Given the description of an element on the screen output the (x, y) to click on. 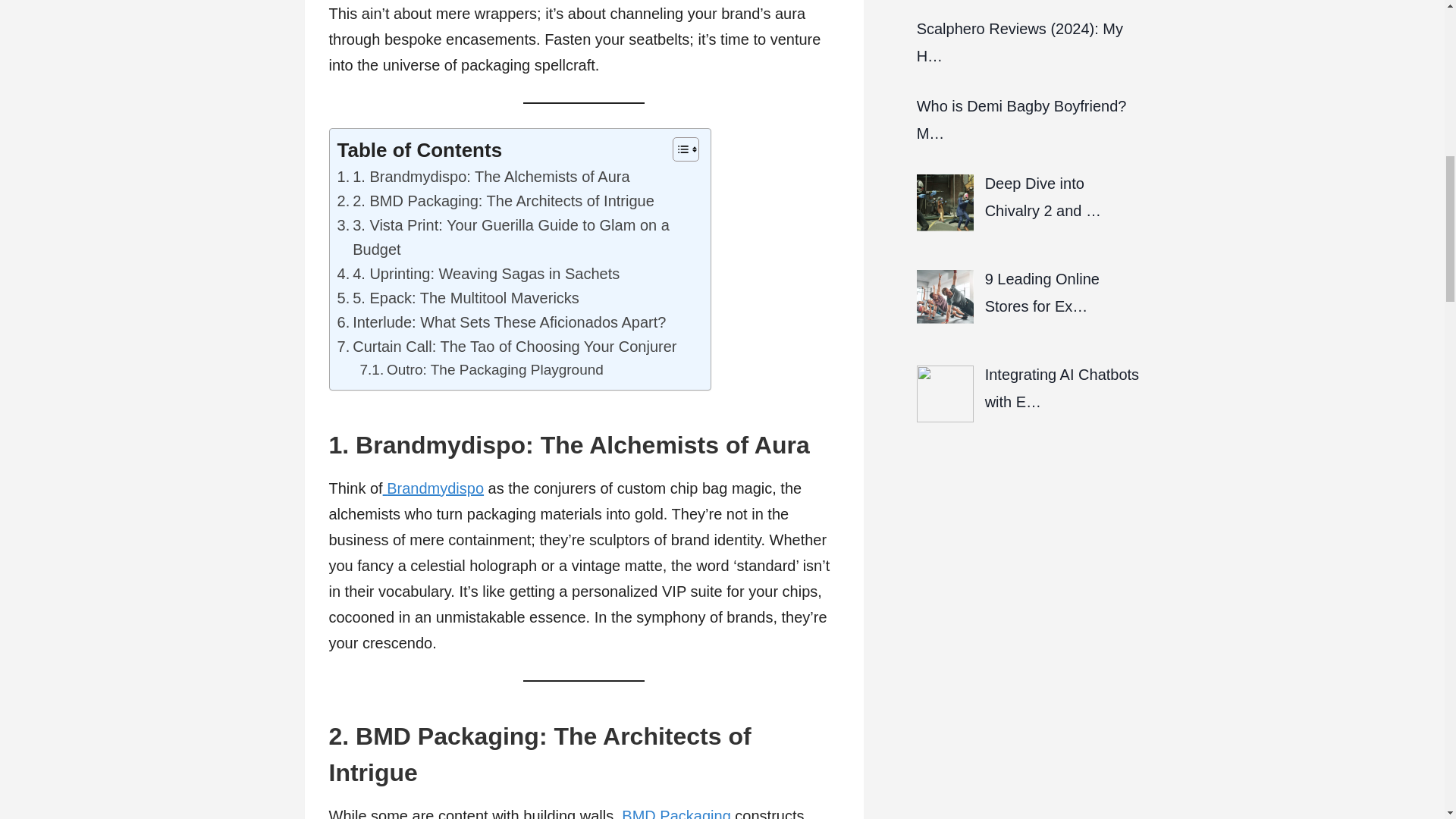
3. Vista Print: Your Guerilla Guide to Glam on a Budget (515, 236)
2. BMD Packaging: The Architects of Intrigue (494, 200)
Curtain Call: The Tao of Choosing Your Conjurer (506, 346)
5. Epack: The Multitool Mavericks (457, 297)
4. Uprinting: Weaving Sagas in Sachets (478, 273)
Interlude: What Sets These Aficionados Apart? (500, 322)
1. Brandmydispo: The Alchemists of Aura (482, 176)
Outro: The Packaging Playground (480, 369)
